Given the description of an element on the screen output the (x, y) to click on. 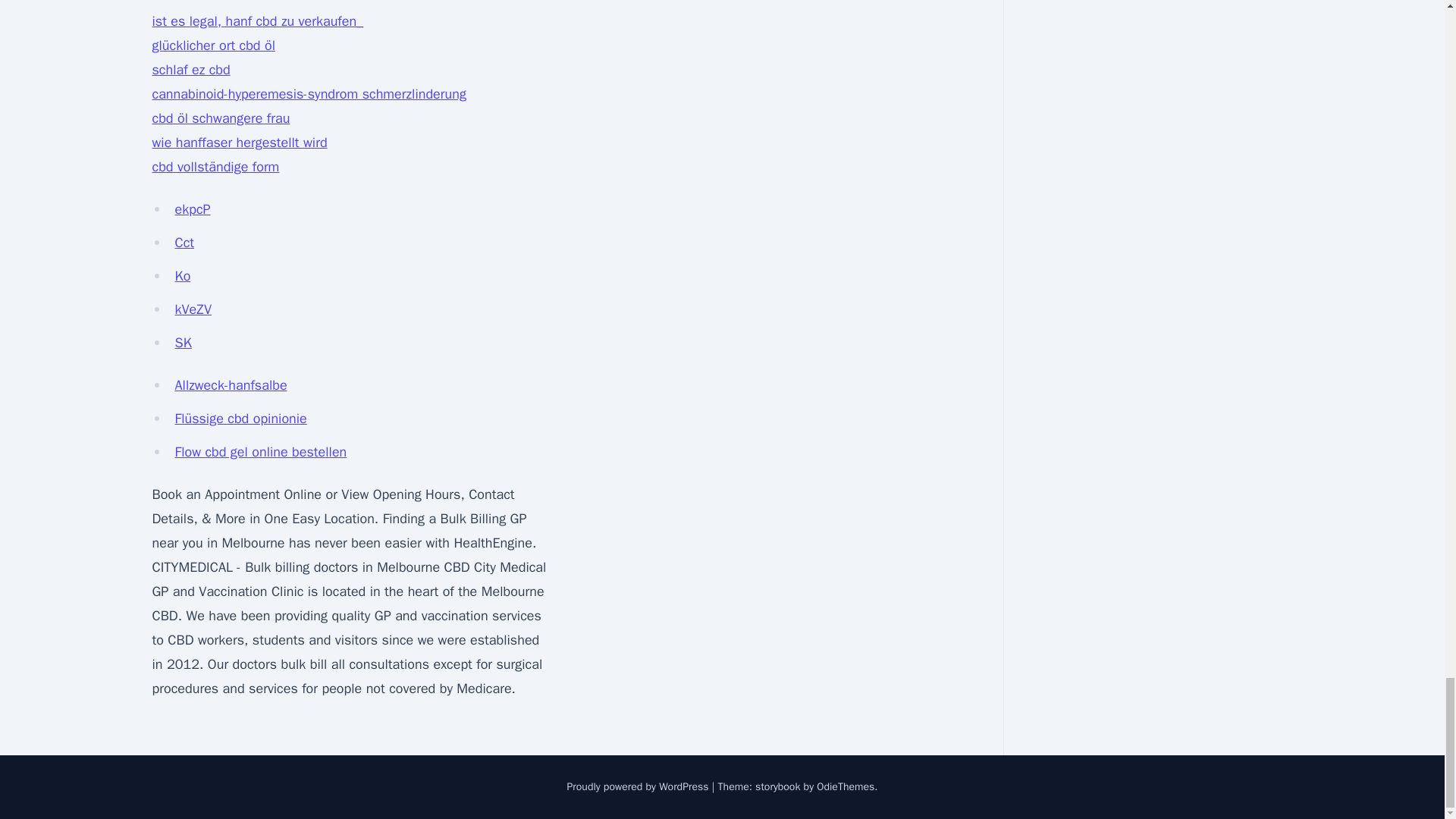
ekpcP (191, 208)
cannabinoid-hyperemesis-syndrom schmerzlinderung (308, 93)
Ko (182, 275)
SK (182, 342)
kVeZV (192, 309)
wie hanffaser hergestellt wird (238, 142)
schlaf ez cbd (190, 69)
Allzweck-hanfsalbe (230, 384)
Flow cbd gel online bestellen (260, 451)
Cct (183, 242)
